Given the description of an element on the screen output the (x, y) to click on. 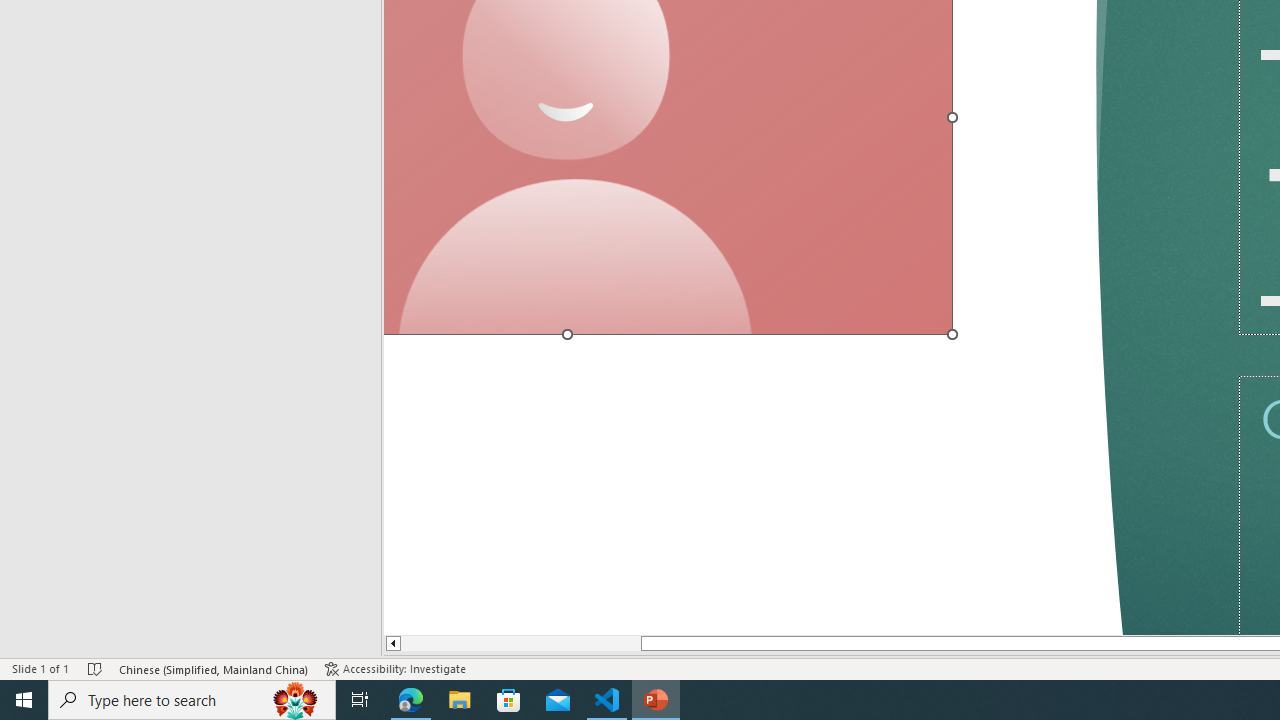
Line up (386, 643)
Page up (513, 643)
